Given the description of an element on the screen output the (x, y) to click on. 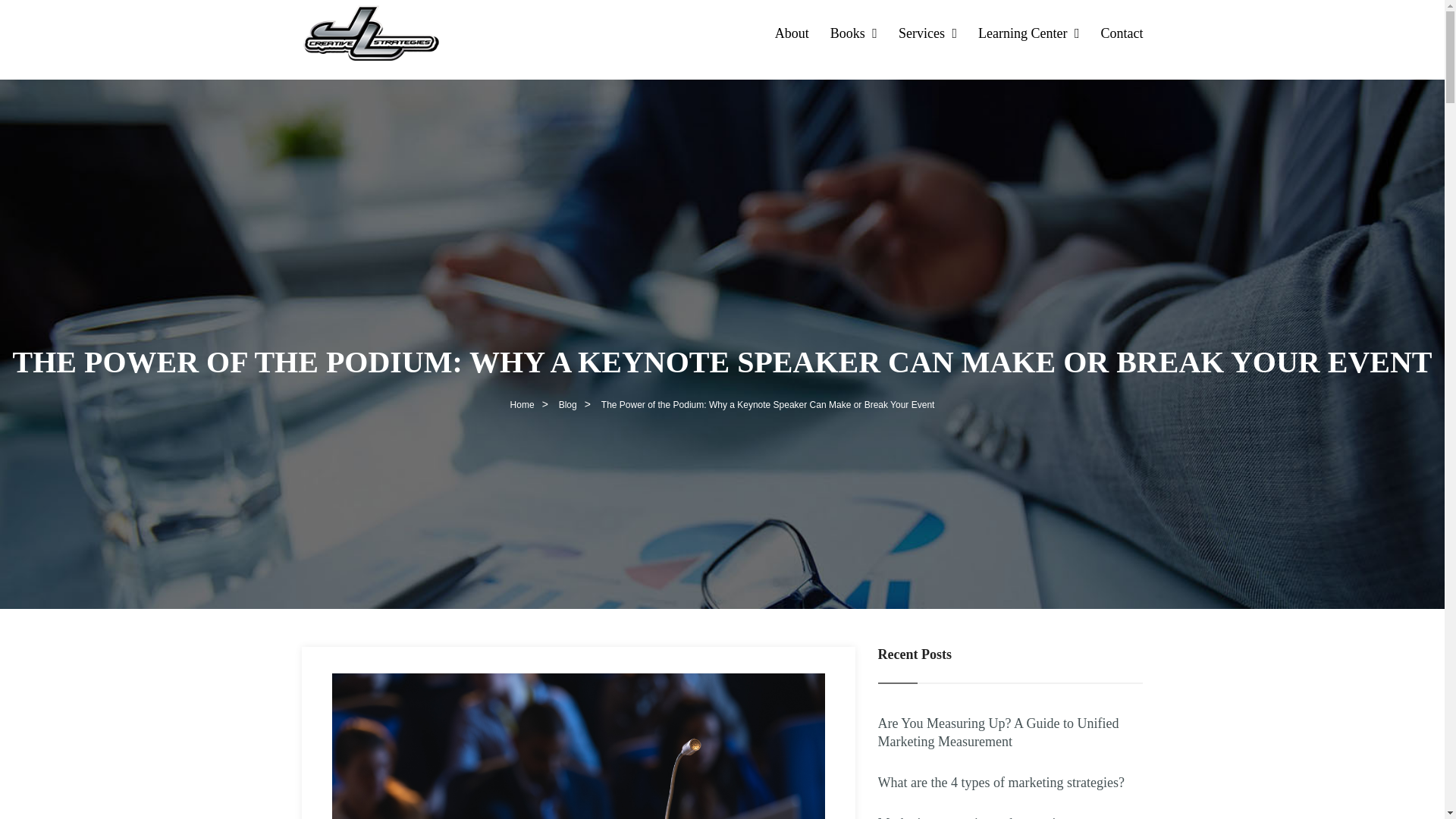
Learning Center (1029, 33)
Services (927, 33)
About (791, 33)
Blog (568, 404)
Books (853, 33)
Contact (1121, 33)
Blog (568, 404)
Home (521, 404)
